Given the description of an element on the screen output the (x, y) to click on. 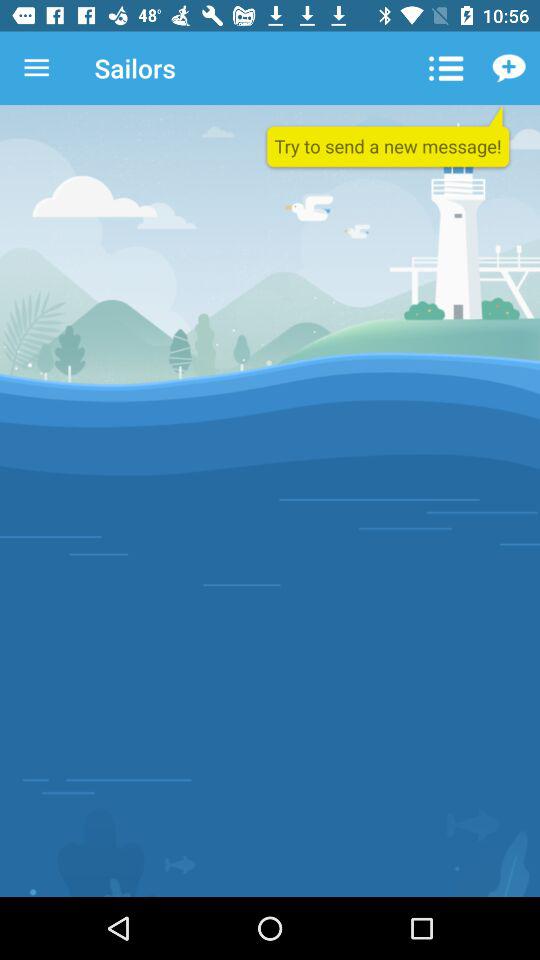
tap the icon next to the sailors (444, 67)
